Given the description of an element on the screen output the (x, y) to click on. 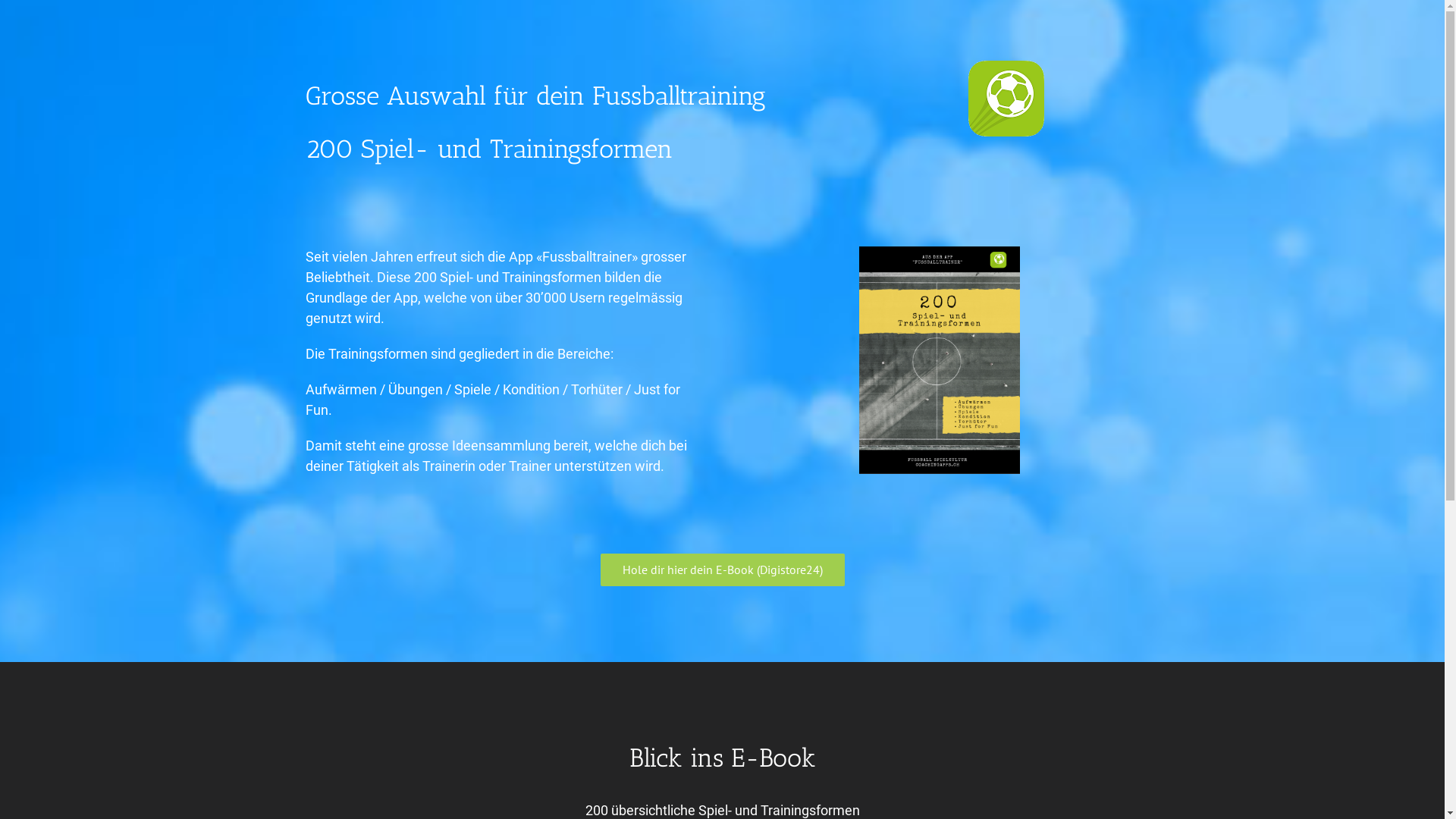
200_Vorderseite Element type: hover (938, 359)
Hole dir hier dein E-Book (Digistore24) Element type: text (722, 569)
logo Element type: hover (1005, 98)
